Given the description of an element on the screen output the (x, y) to click on. 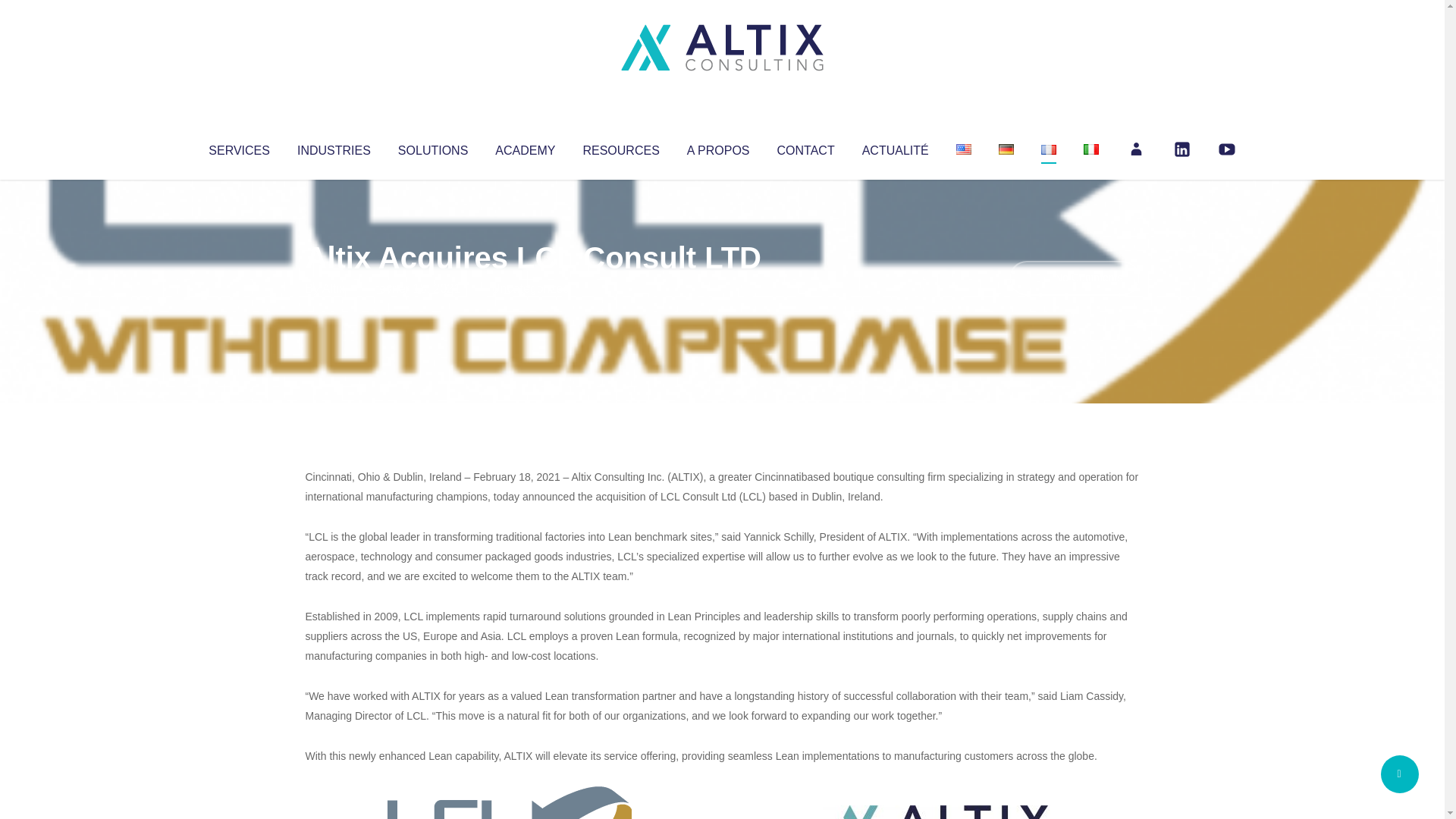
Articles par Altix (333, 287)
A PROPOS (718, 146)
SERVICES (238, 146)
INDUSTRIES (334, 146)
Uncategorized (530, 287)
RESOURCES (620, 146)
ACADEMY (524, 146)
No Comments (1073, 278)
Altix (333, 287)
SOLUTIONS (432, 146)
